Given the description of an element on the screen output the (x, y) to click on. 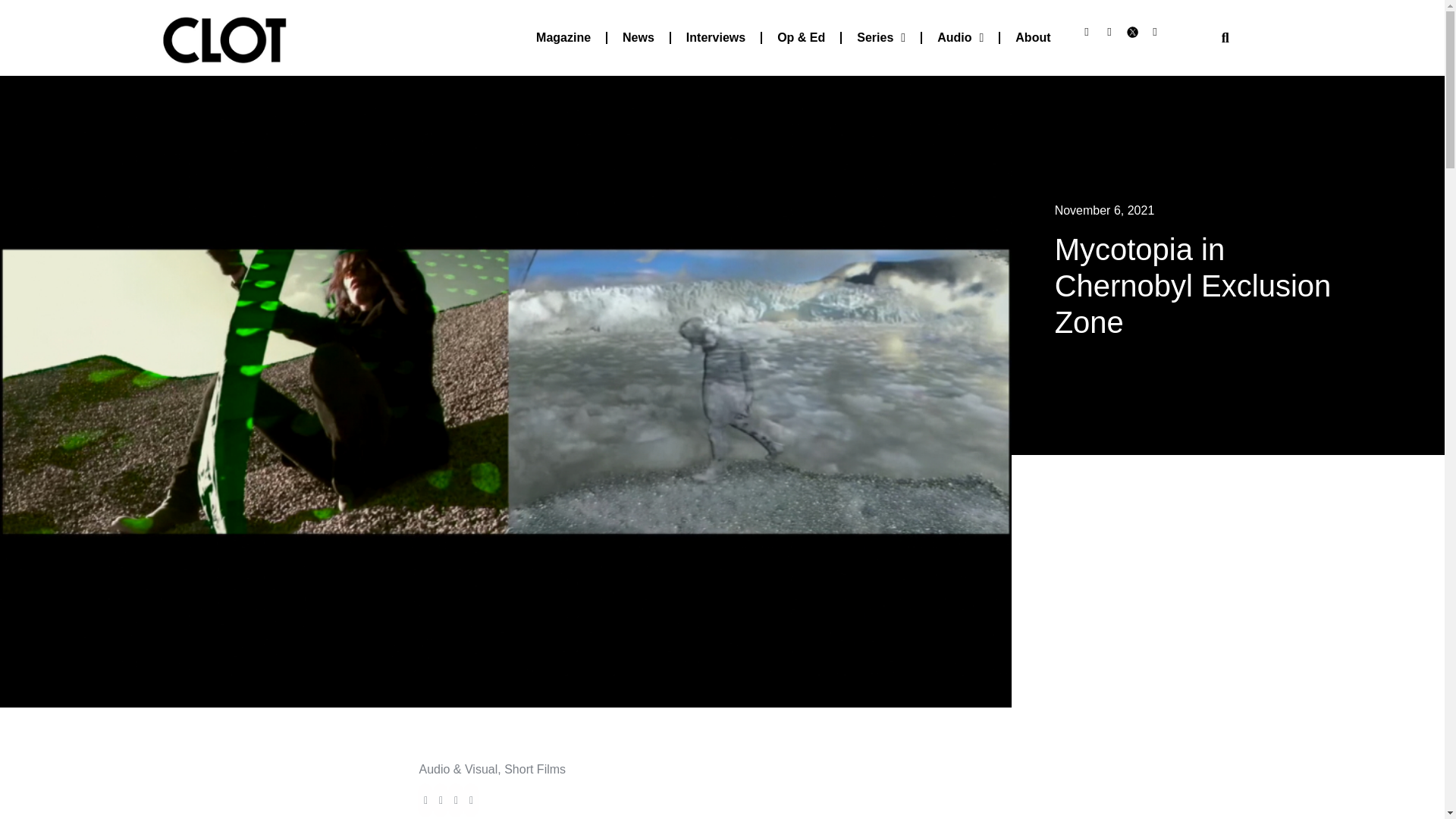
Audio (959, 37)
Series (880, 37)
News (638, 37)
Interviews (715, 37)
About (1032, 37)
Magazine (563, 37)
